Given the description of an element on the screen output the (x, y) to click on. 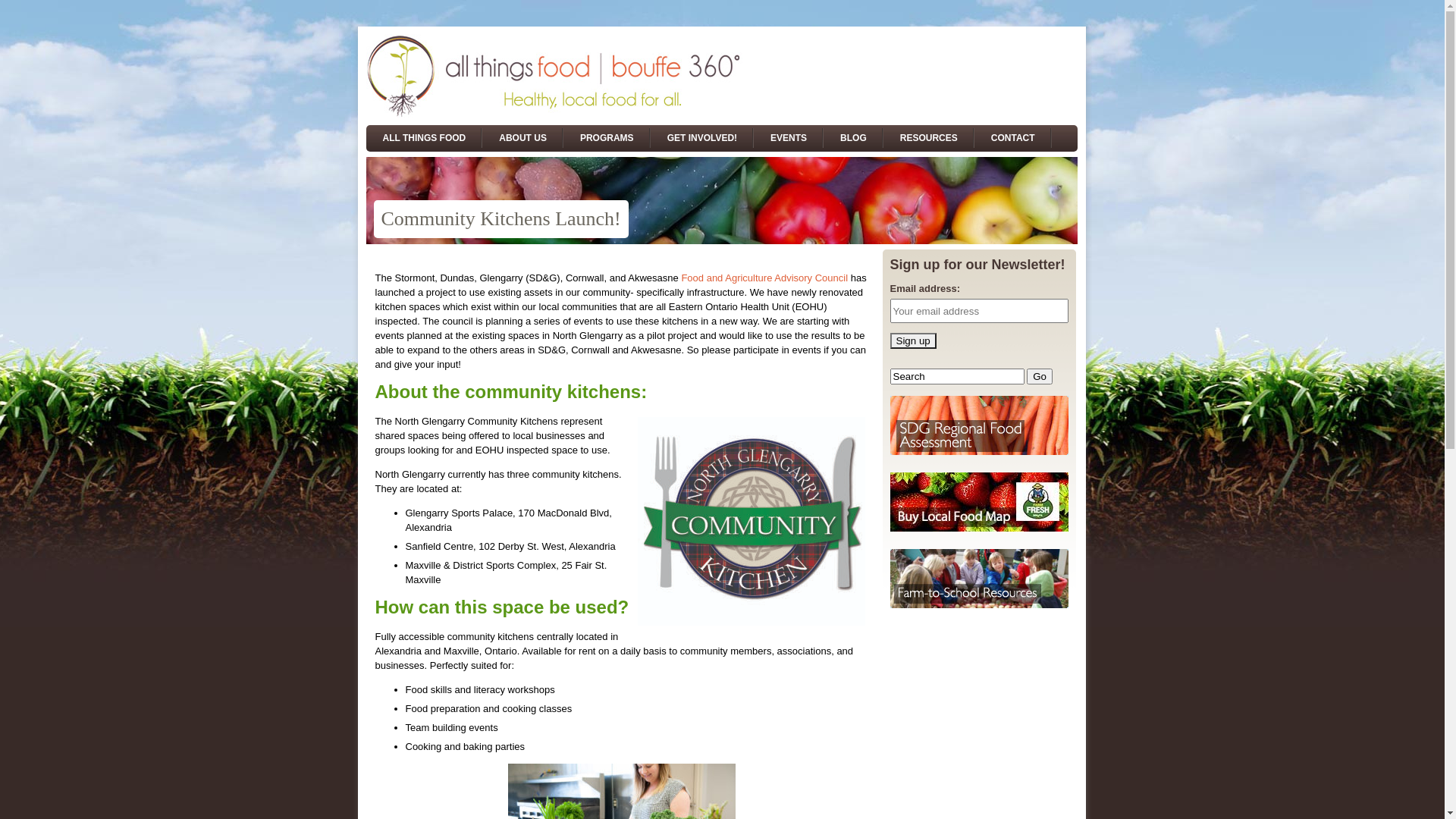
BLOG Element type: text (853, 138)
CONTACT Element type: text (1012, 138)
Go Element type: text (1039, 376)
Sign up Element type: text (913, 340)
ABOUT US Element type: text (522, 138)
Food and Agriculture Advisory Council Element type: text (763, 277)
EVENTS Element type: text (788, 138)
RESOURCES Element type: text (928, 138)
GET INVOLVED! Element type: text (701, 138)
PROGRAMS Element type: text (606, 138)
ALL THINGS FOOD Element type: text (423, 138)
